Given the description of an element on the screen output the (x, y) to click on. 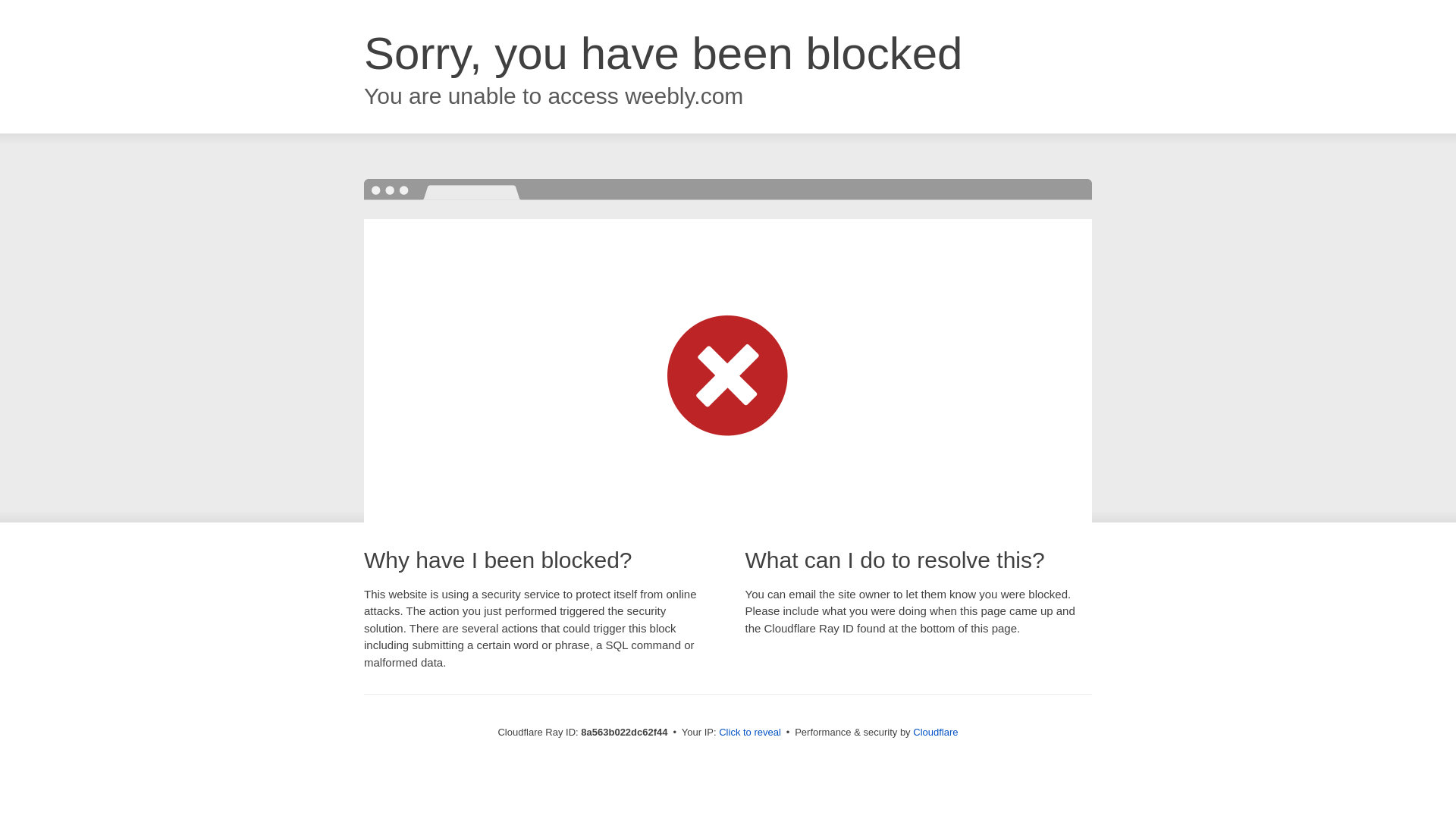
Cloudflare (935, 731)
Click to reveal (749, 732)
